Given the description of an element on the screen output the (x, y) to click on. 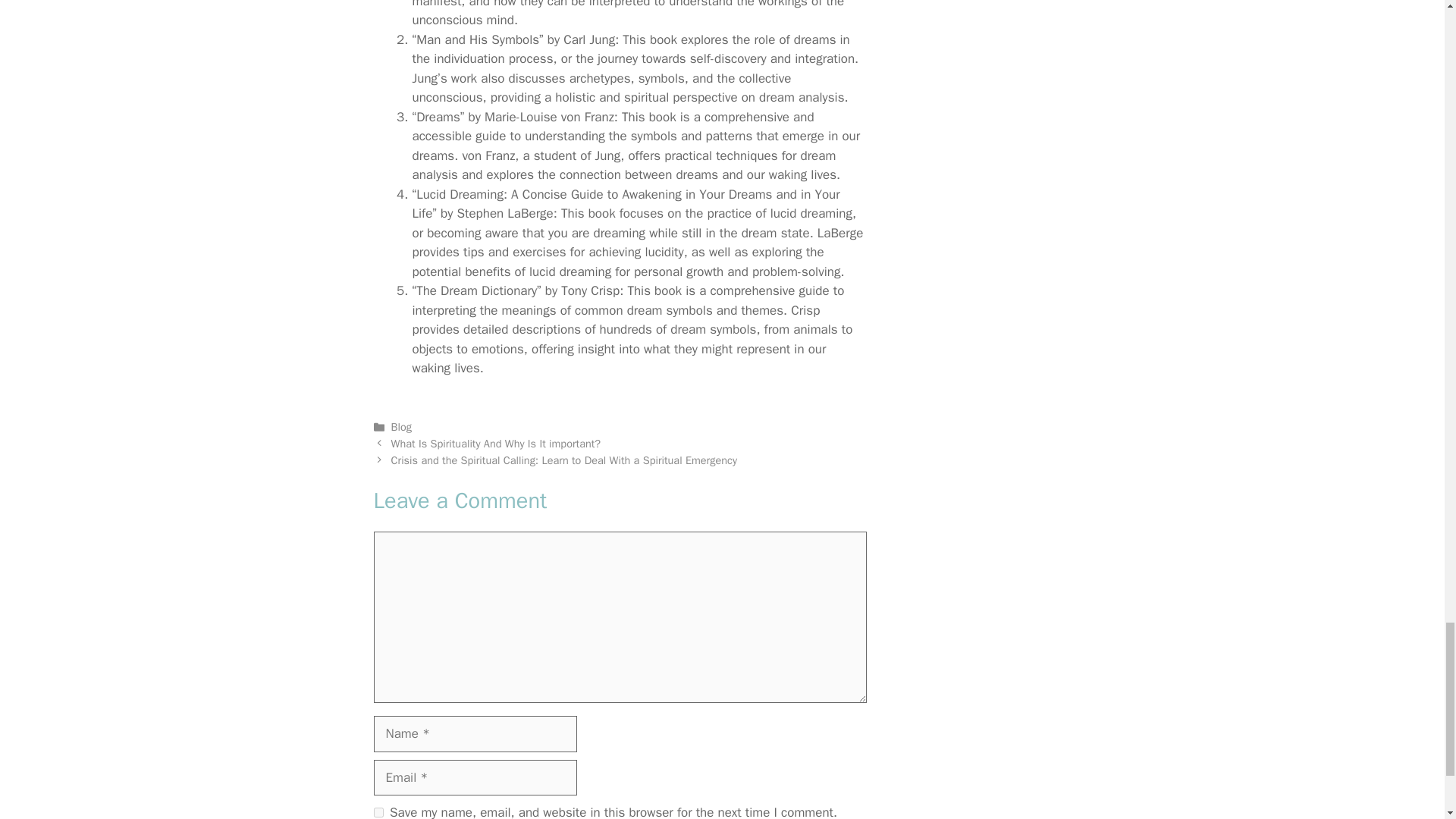
What Is Spirituality And Why Is It important? (496, 443)
yes (377, 812)
Blog (401, 427)
